Given the description of an element on the screen output the (x, y) to click on. 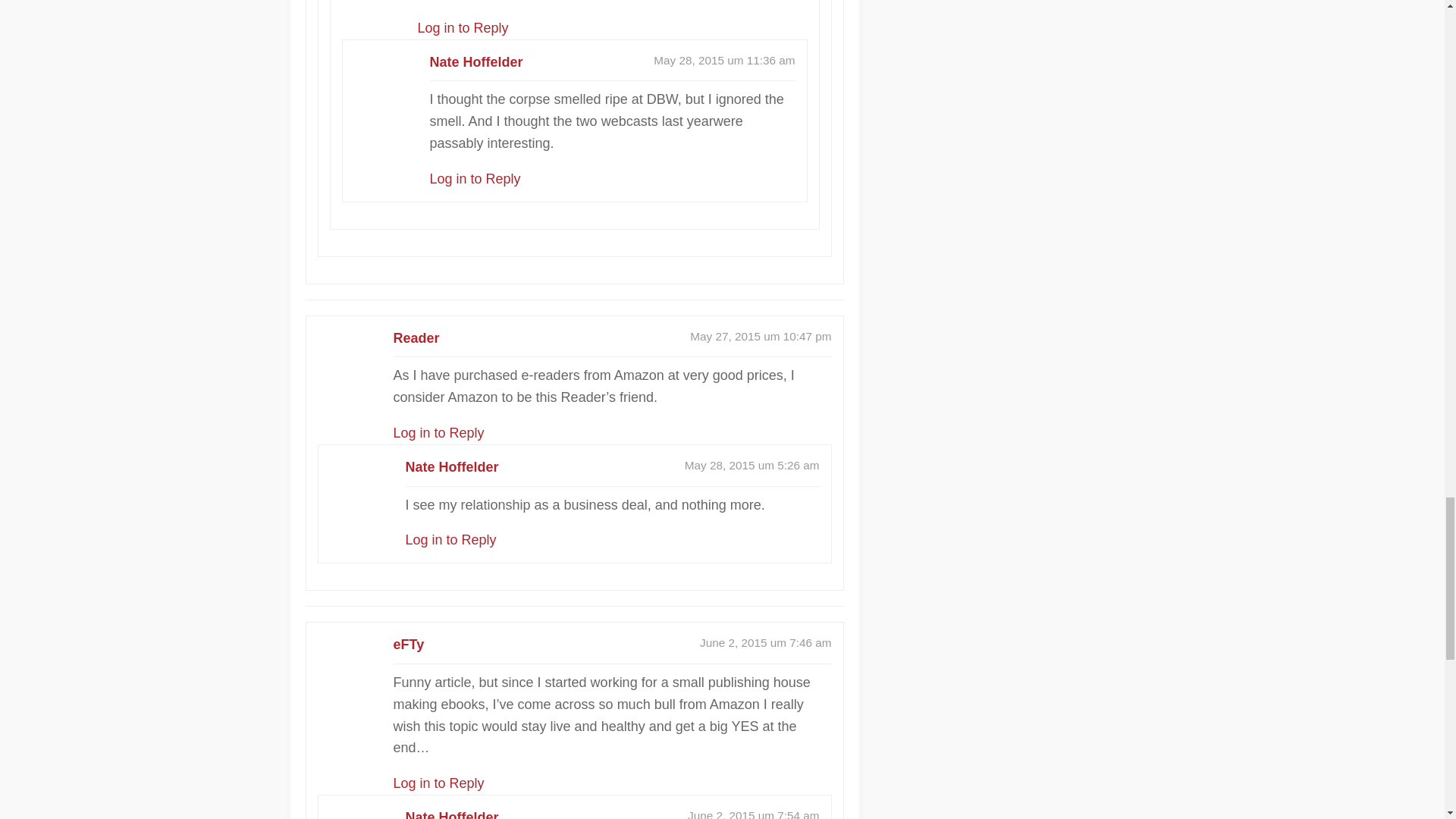
Log in to Reply (474, 178)
Log in to Reply (438, 432)
Log in to Reply (462, 28)
Log in to Reply (438, 783)
Log in to Reply (450, 539)
